Given the description of an element on the screen output the (x, y) to click on. 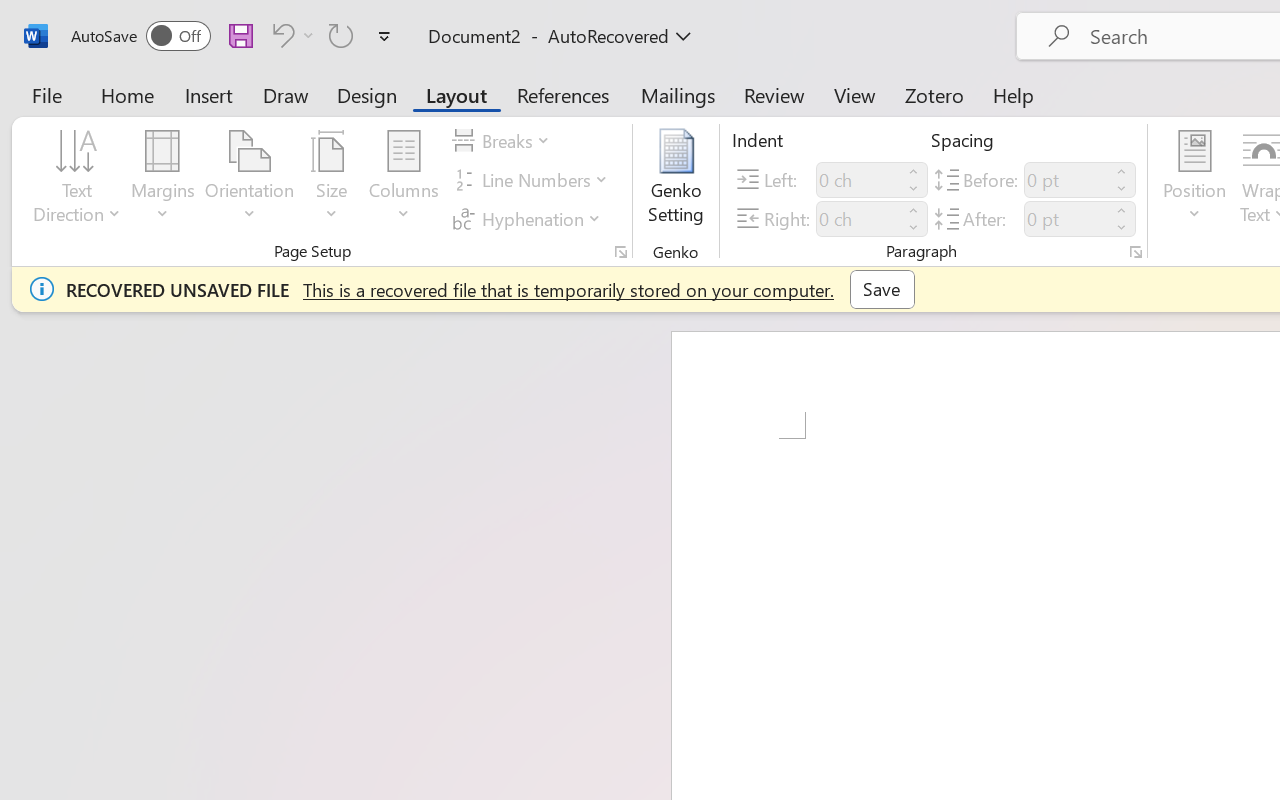
Indent Left (858, 179)
Position (1194, 179)
Page Setup... (621, 252)
More (1121, 210)
Hyphenation (529, 218)
Less (1121, 227)
